Given the description of an element on the screen output the (x, y) to click on. 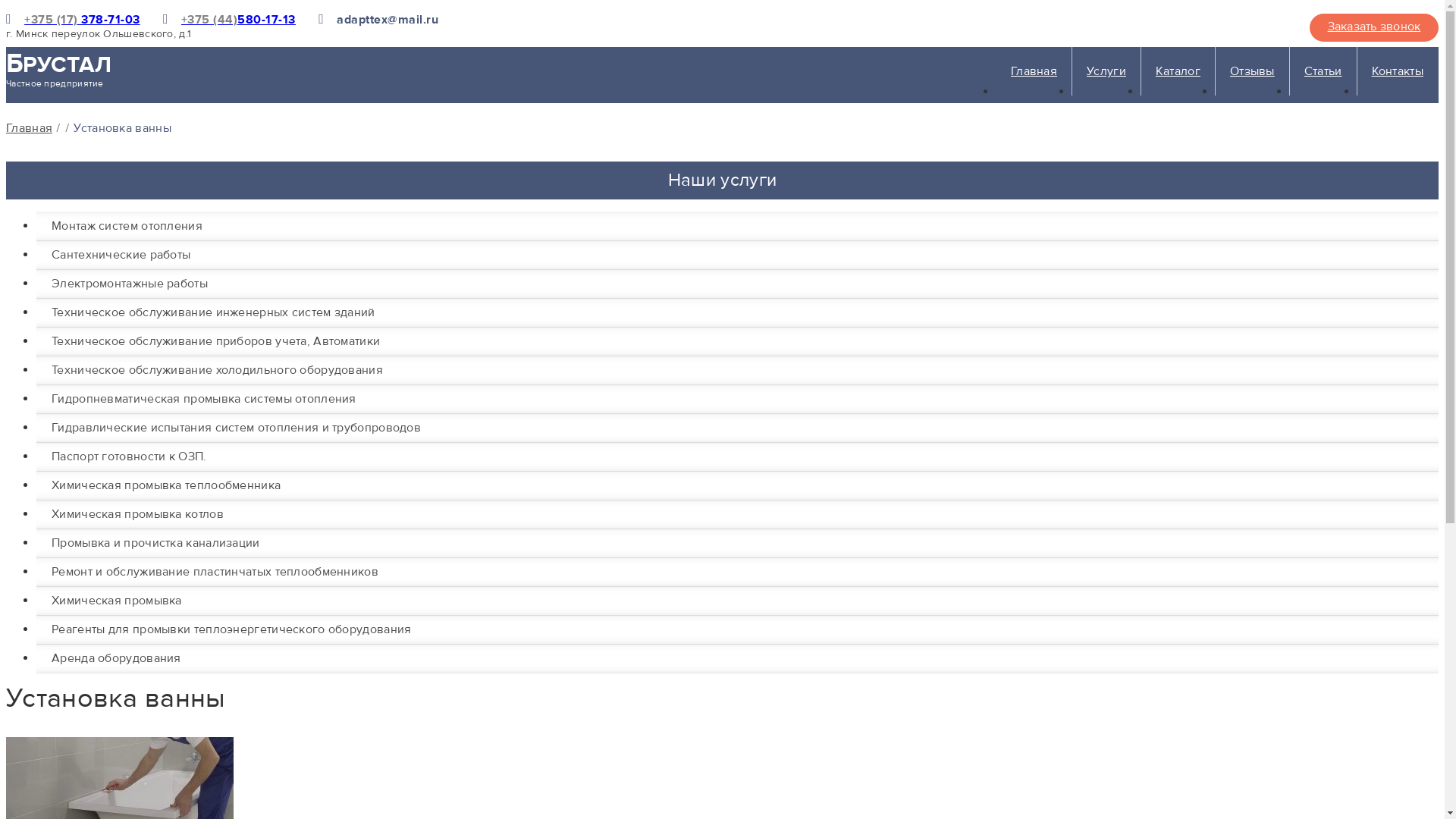
+375 (17) 378-71-03 Element type: text (82, 19)
+375 (44)580-17-13 Element type: text (238, 19)
